Given the description of an element on the screen output the (x, y) to click on. 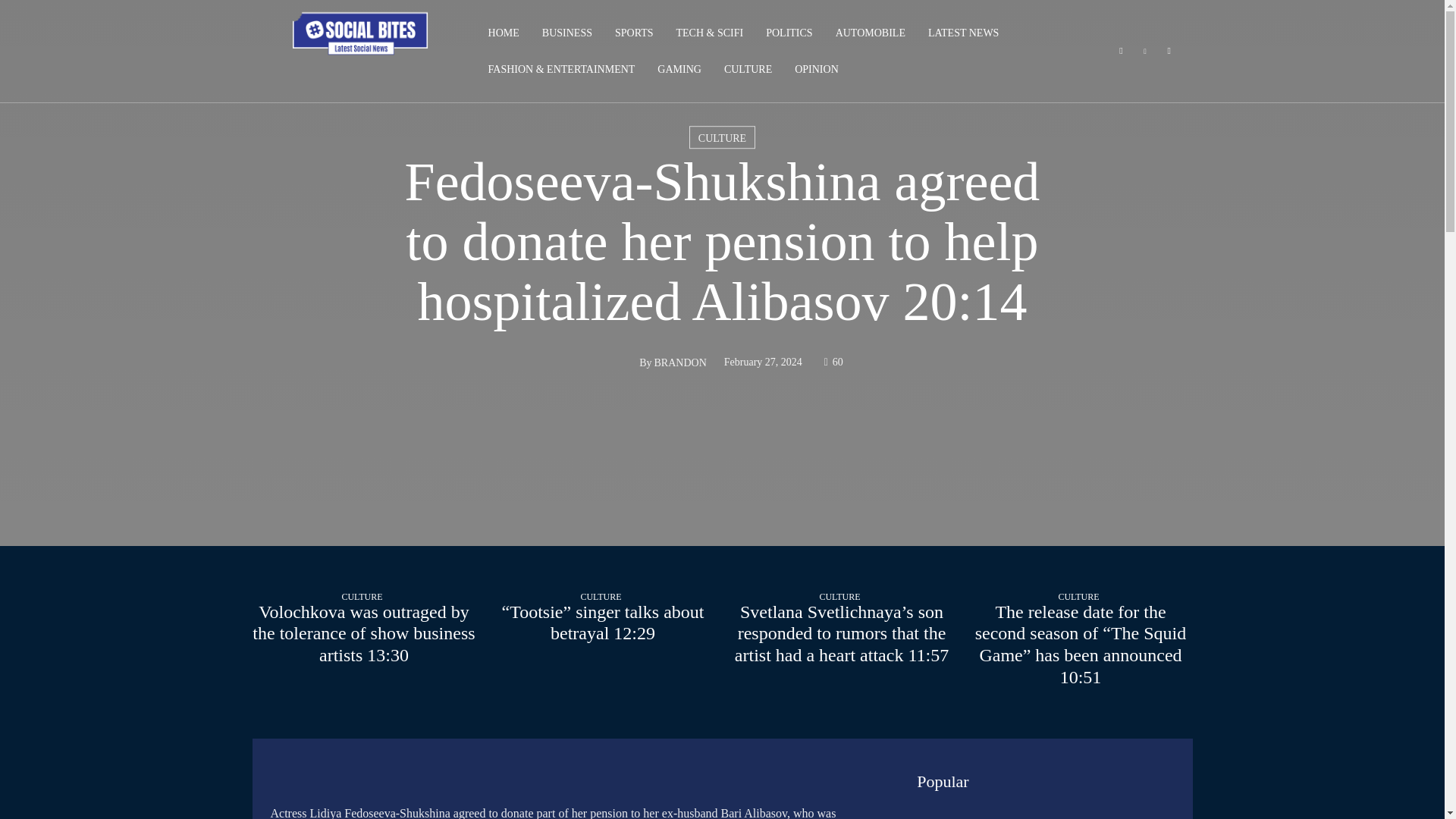
Facebook (1121, 51)
CULTURE (748, 69)
Brandon (620, 363)
Tumblr (1168, 51)
BUSINESS (566, 33)
OPINION (816, 69)
AUTOMOBILE (869, 33)
LATEST NEWS (963, 33)
